Given the description of an element on the screen output the (x, y) to click on. 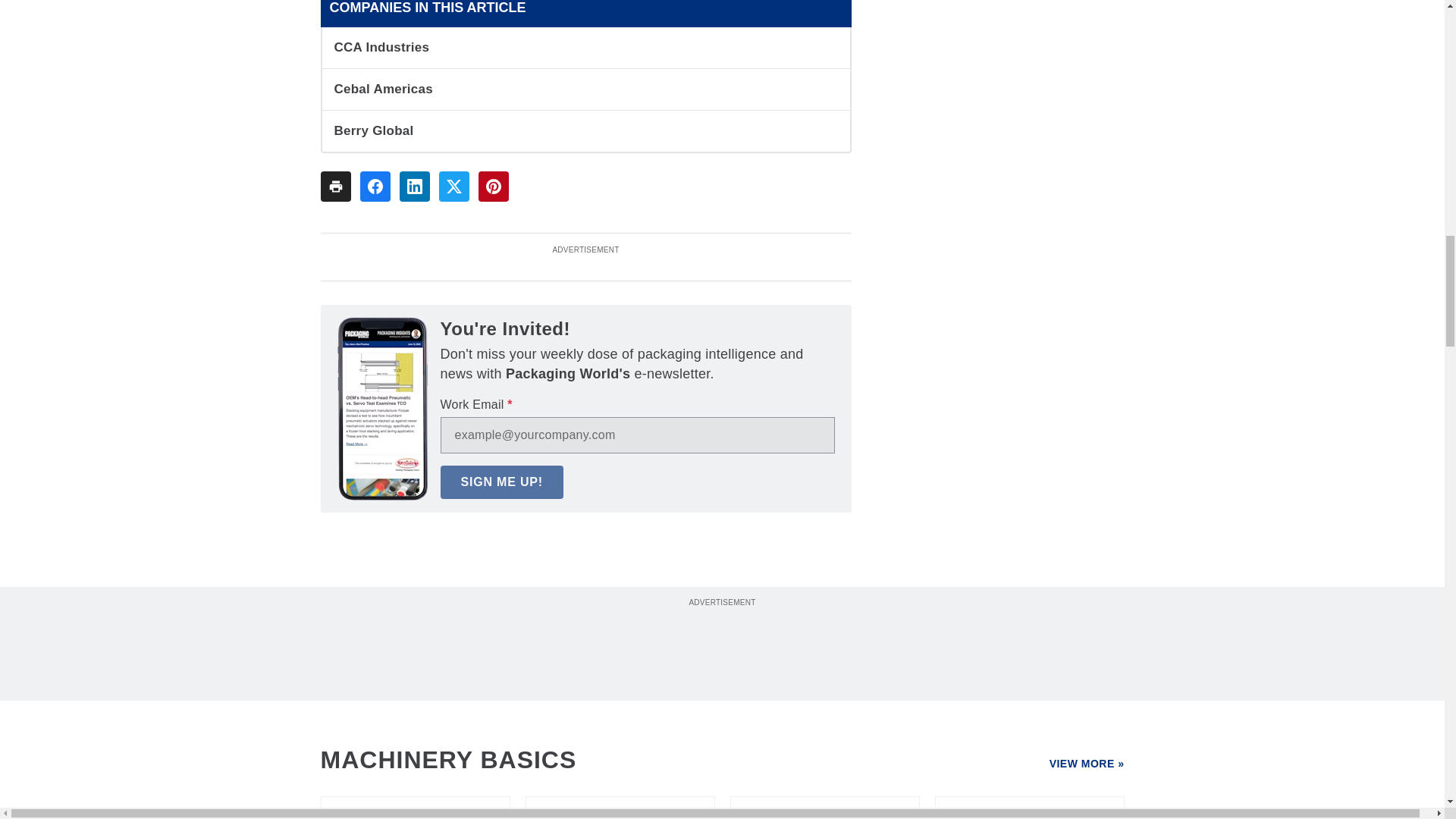
Share To facebook (374, 186)
Share To linkedin (413, 186)
Share To twitter (453, 186)
Share To print (335, 186)
